Given the description of an element on the screen output the (x, y) to click on. 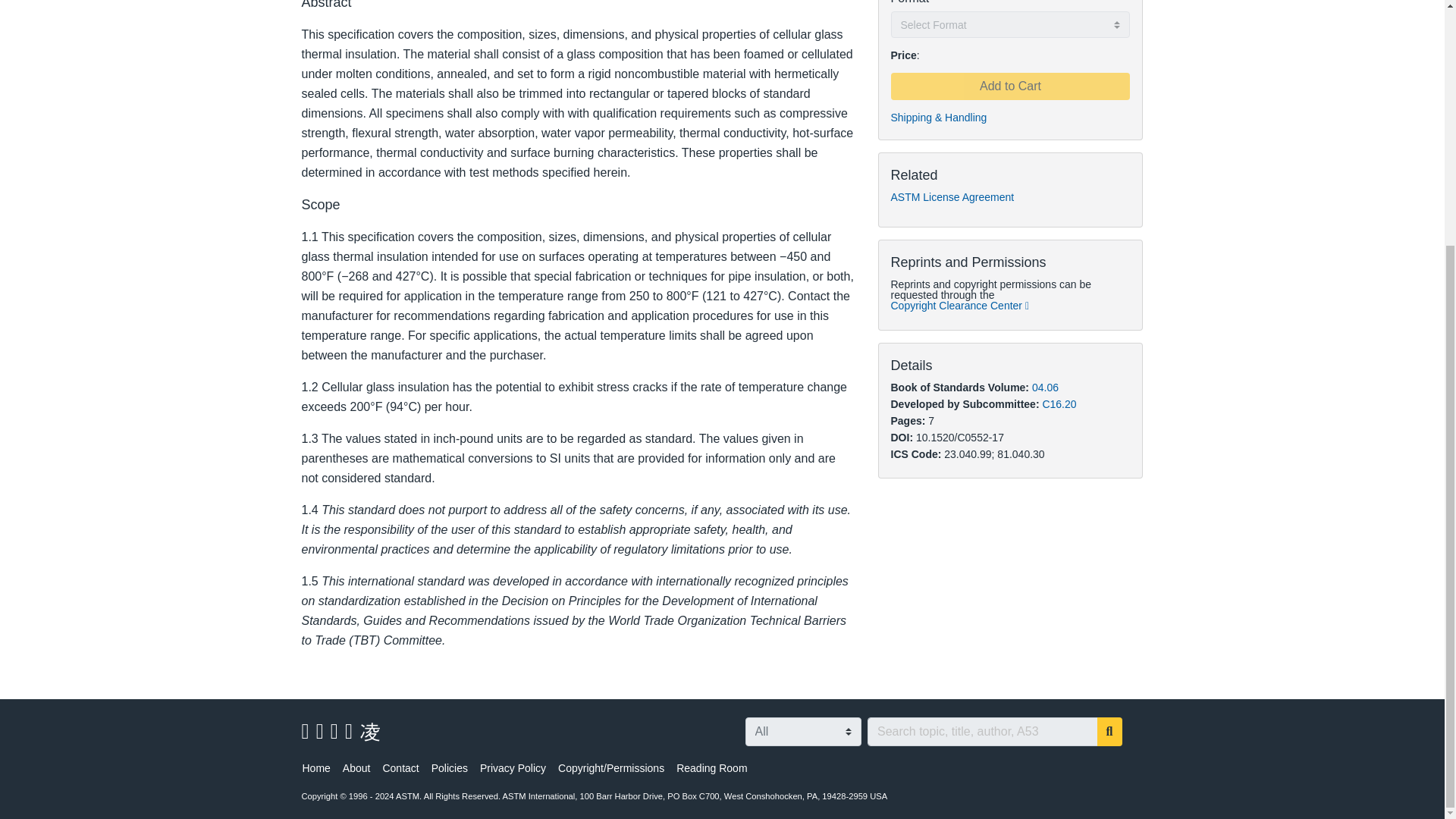
Add to Cart (1009, 85)
